Given the description of an element on the screen output the (x, y) to click on. 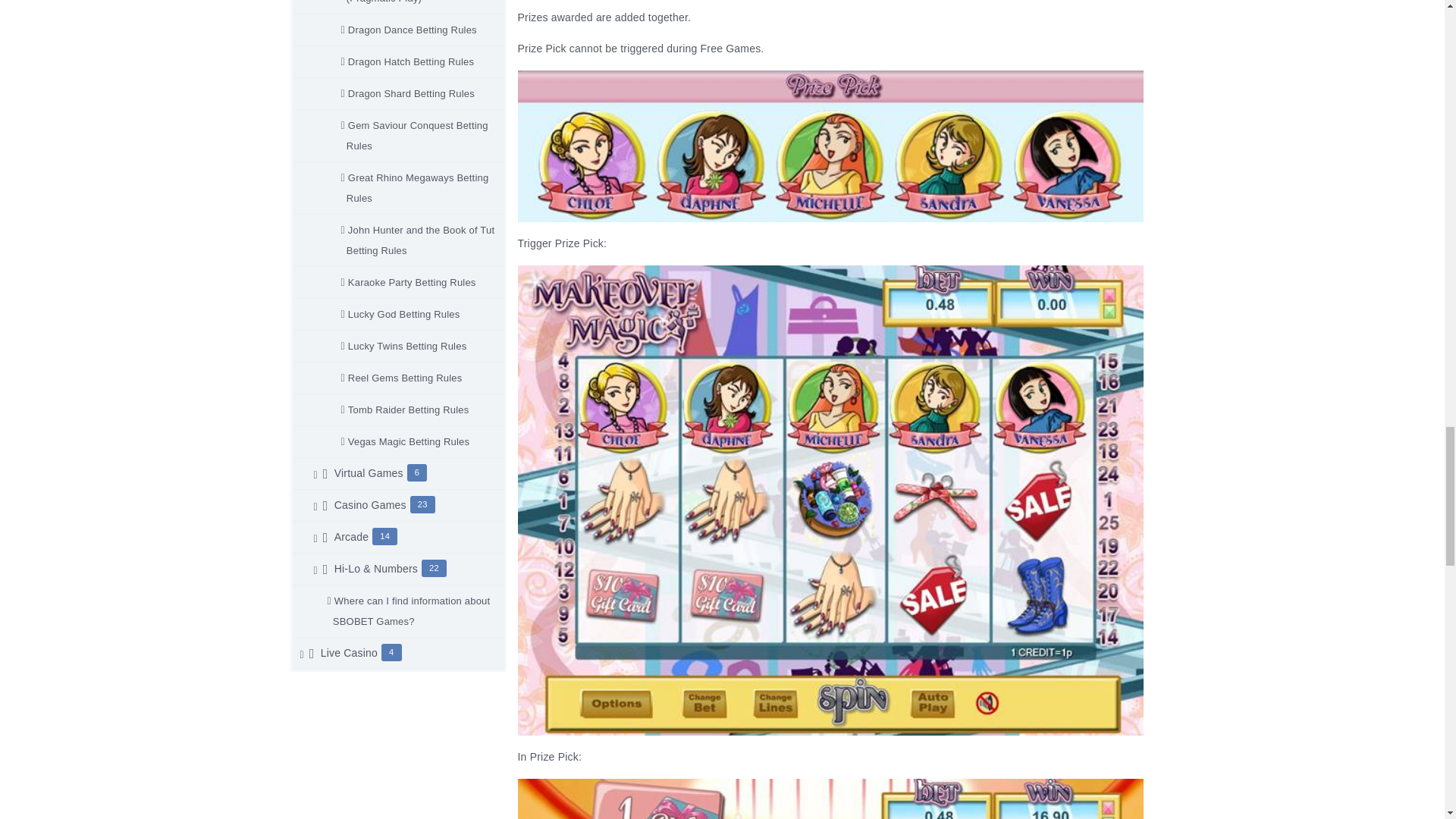
Makeover Magic Girlfriend Symbol (829, 146)
Makeover Magic in Prize Pick (829, 798)
